Given the description of an element on the screen output the (x, y) to click on. 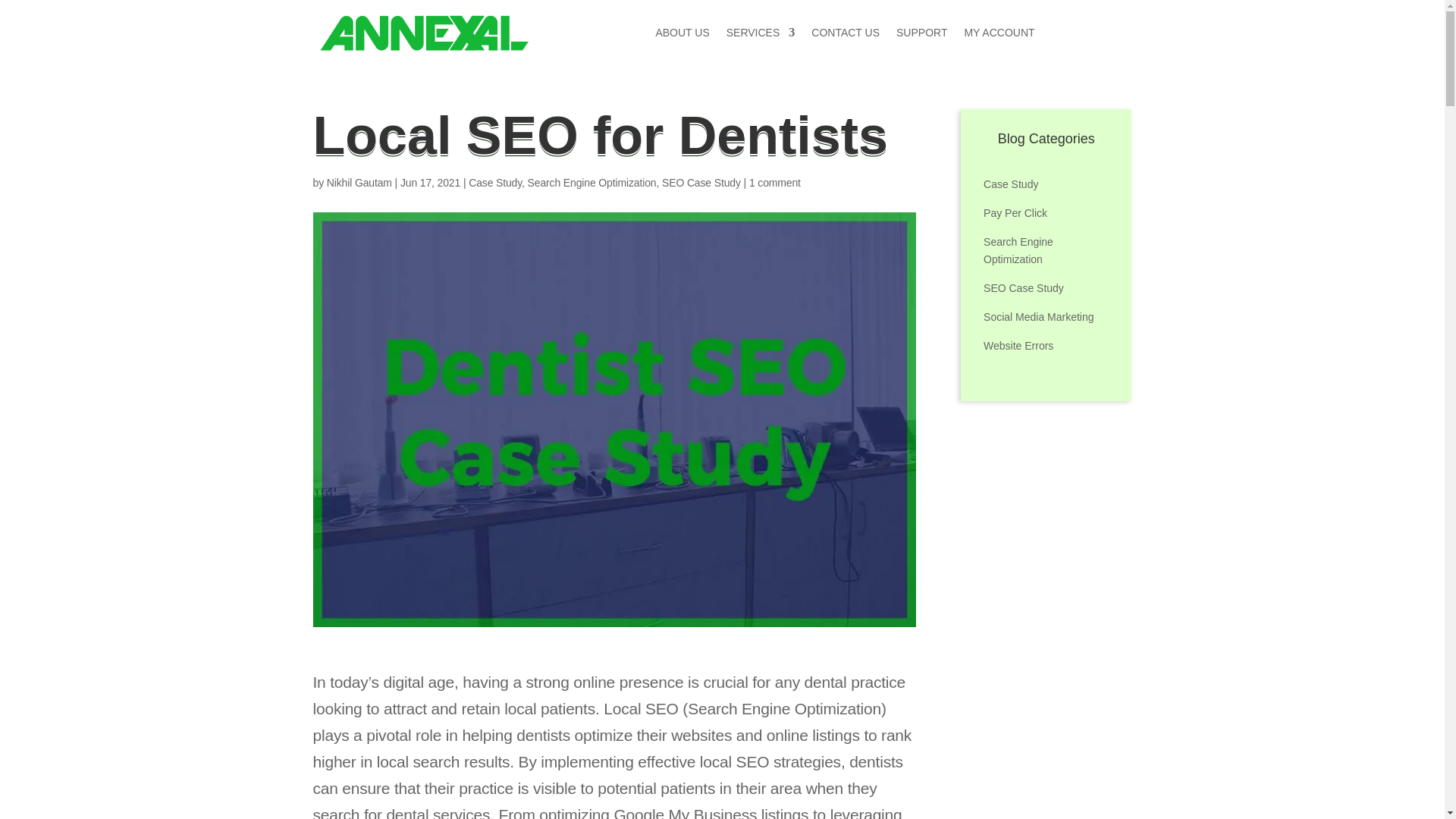
Case Study (494, 182)
CONTACT US (844, 32)
SEO Case Study (701, 182)
ABOUT US (682, 32)
1 comment (774, 182)
Search Engine Optimization (591, 182)
SERVICES (760, 32)
Nikhil Gautam (358, 182)
MY ACCOUNT (998, 32)
Posts by Nikhil Gautam (358, 182)
